Given the description of an element on the screen output the (x, y) to click on. 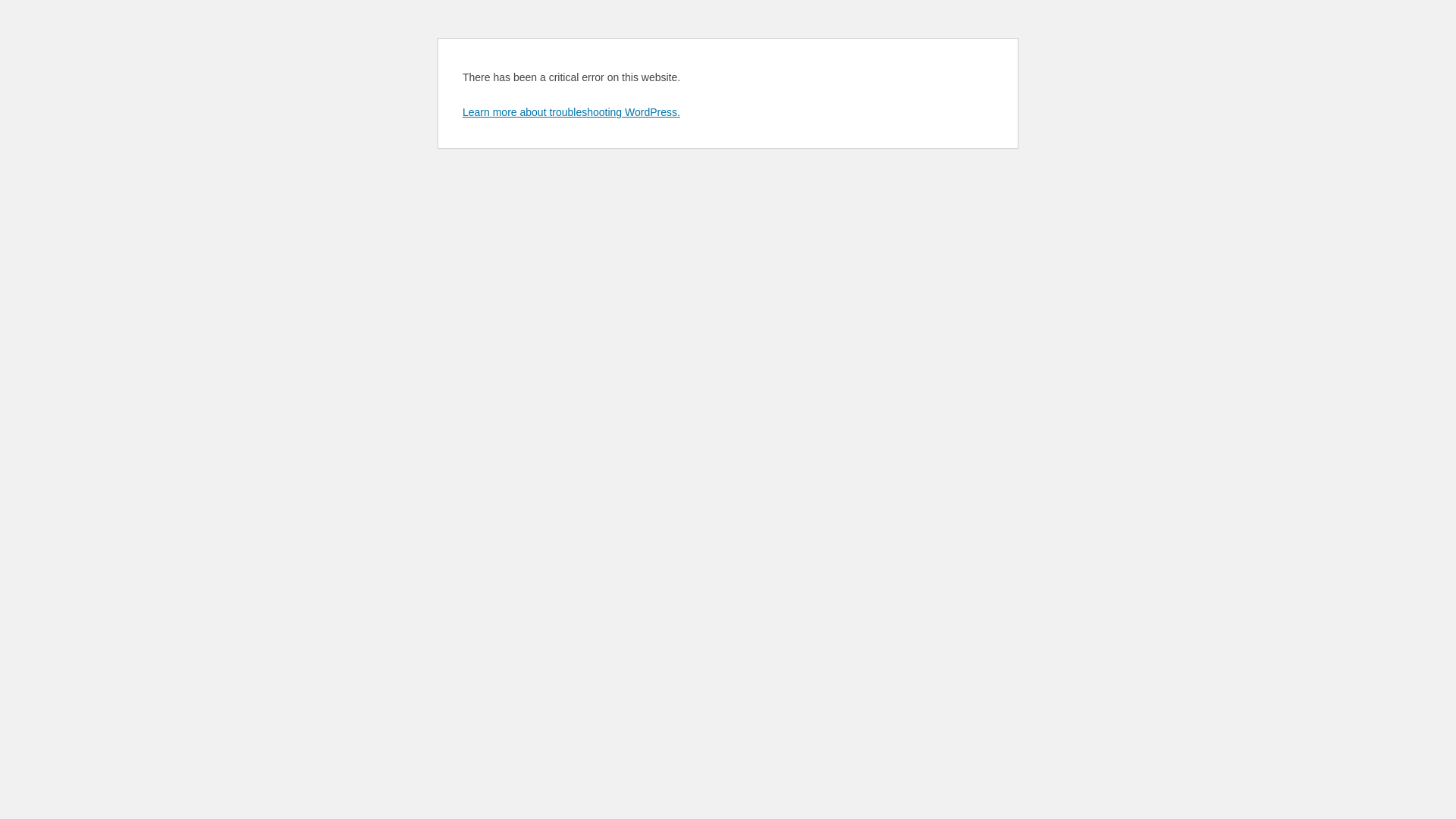
Learn more about troubleshooting WordPress. Element type: text (571, 112)
